Given the description of an element on the screen output the (x, y) to click on. 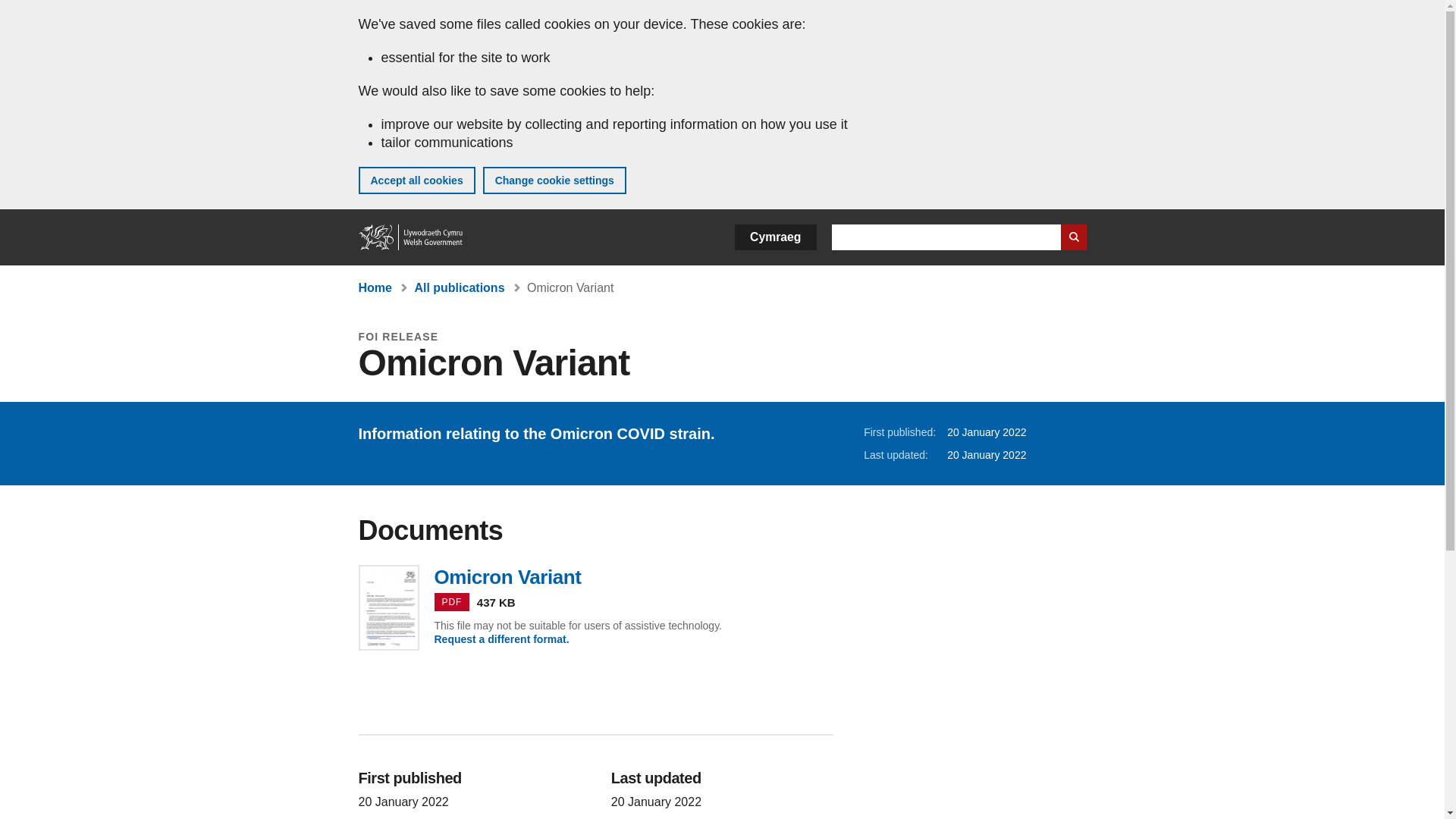
Home (374, 287)
Request a different format. (501, 639)
Freedom of information (368, 336)
Search website (595, 576)
Change cookie settings (1072, 237)
Accept all cookies (554, 180)
Home (416, 180)
Omicron Variant (411, 237)
Skip to main content (569, 287)
Welsh Government (22, 11)
All publications (411, 237)
Cymraeg (458, 287)
Search website (775, 237)
